Given the description of an element on the screen output the (x, y) to click on. 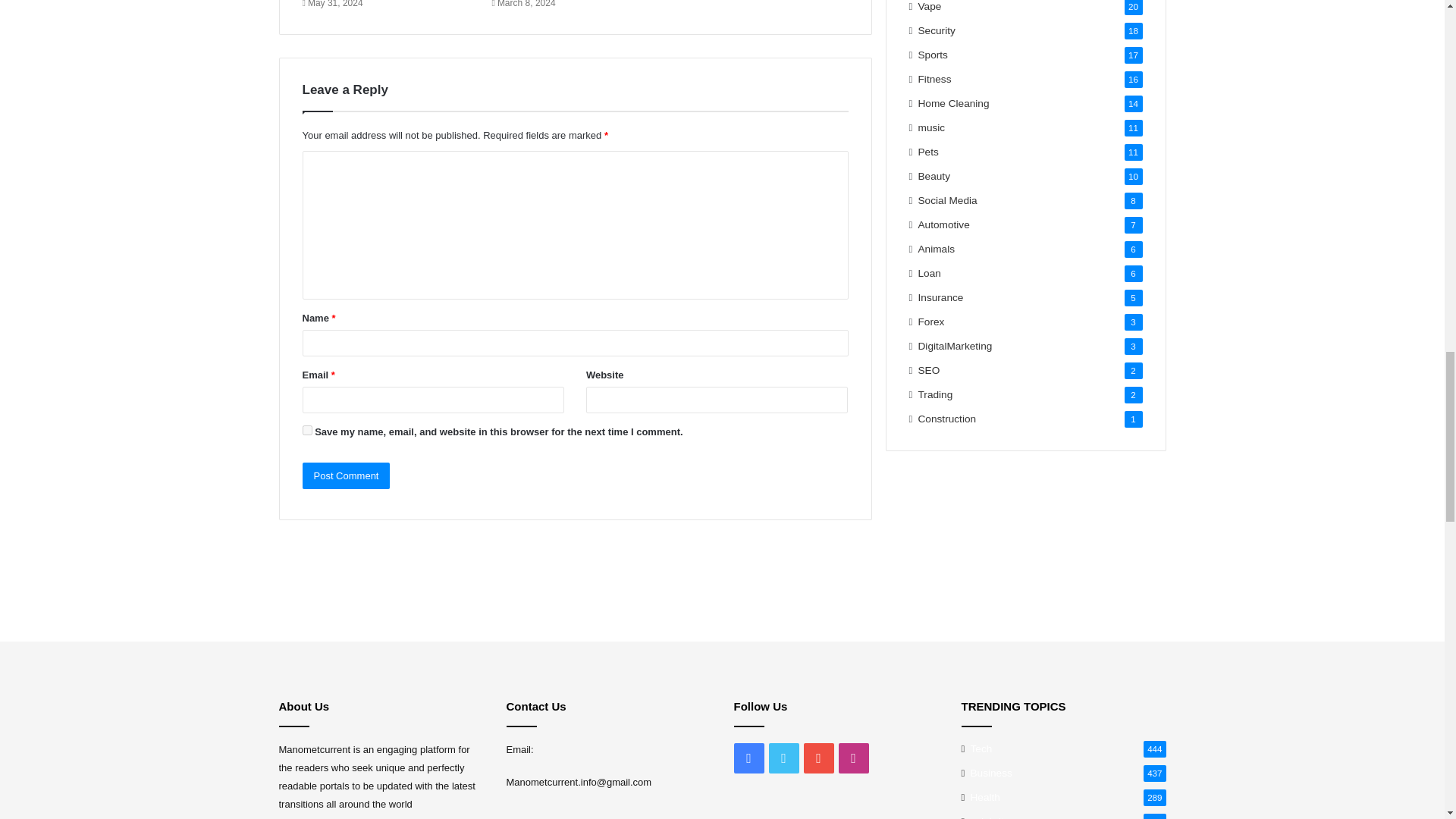
yes (306, 429)
Post Comment (345, 475)
Post Comment (345, 475)
